Given the description of an element on the screen output the (x, y) to click on. 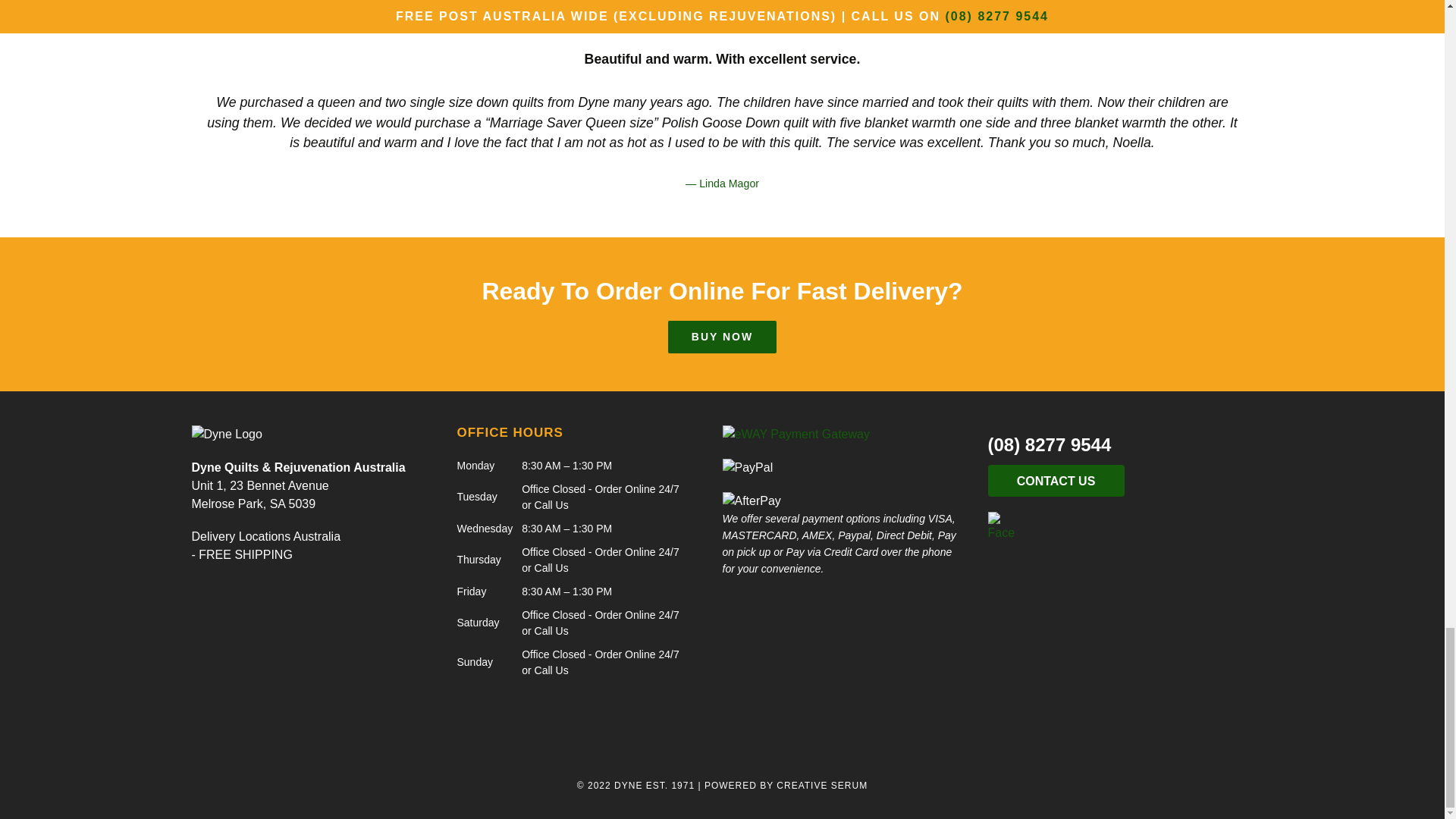
eWAY Payment Gateway (795, 433)
